Given the description of an element on the screen output the (x, y) to click on. 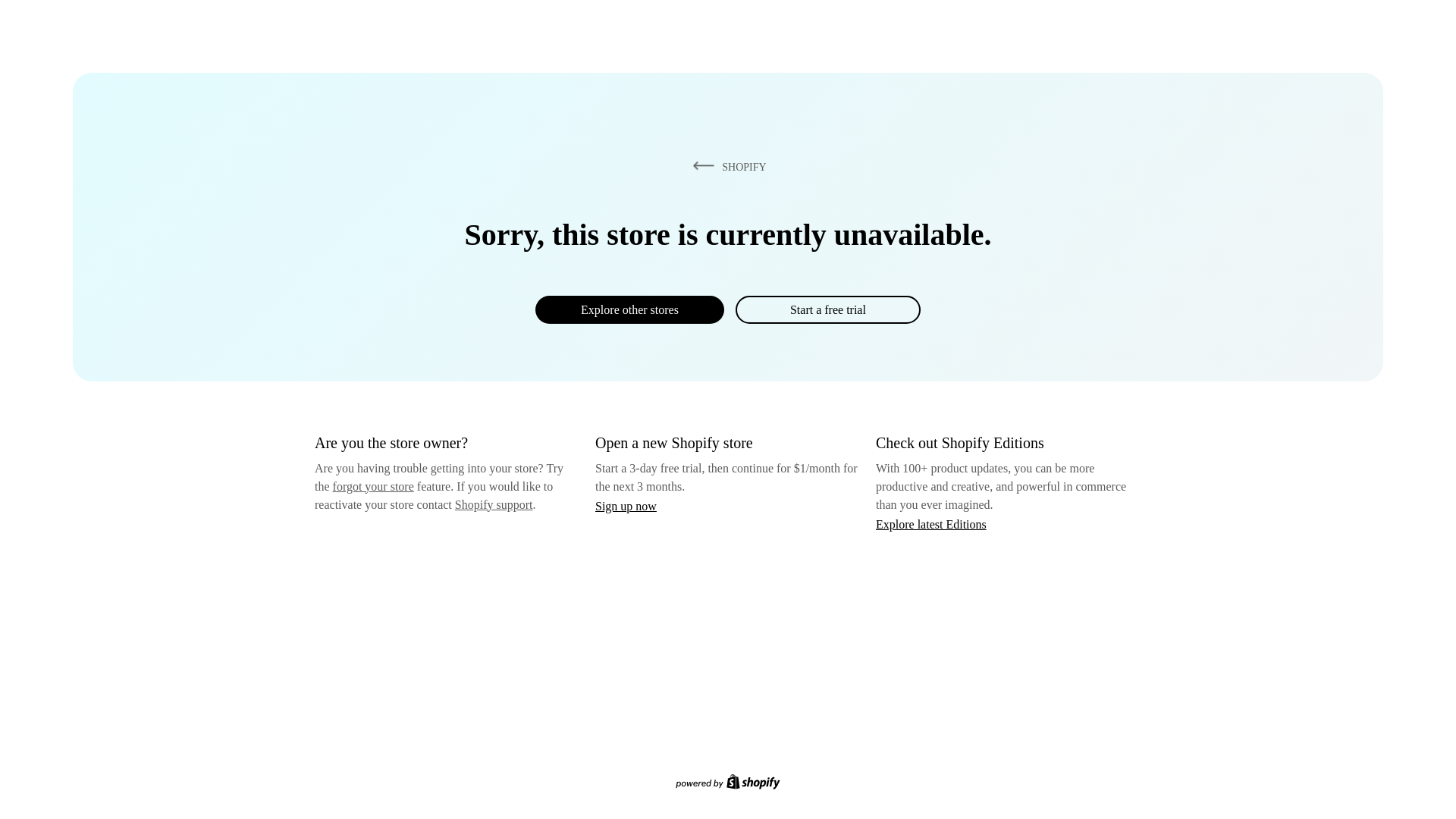
Explore latest Editions (931, 523)
Shopify support (493, 504)
Explore other stores (629, 309)
Sign up now (625, 505)
forgot your store (373, 486)
SHOPIFY (726, 166)
Start a free trial (827, 309)
